Given the description of an element on the screen output the (x, y) to click on. 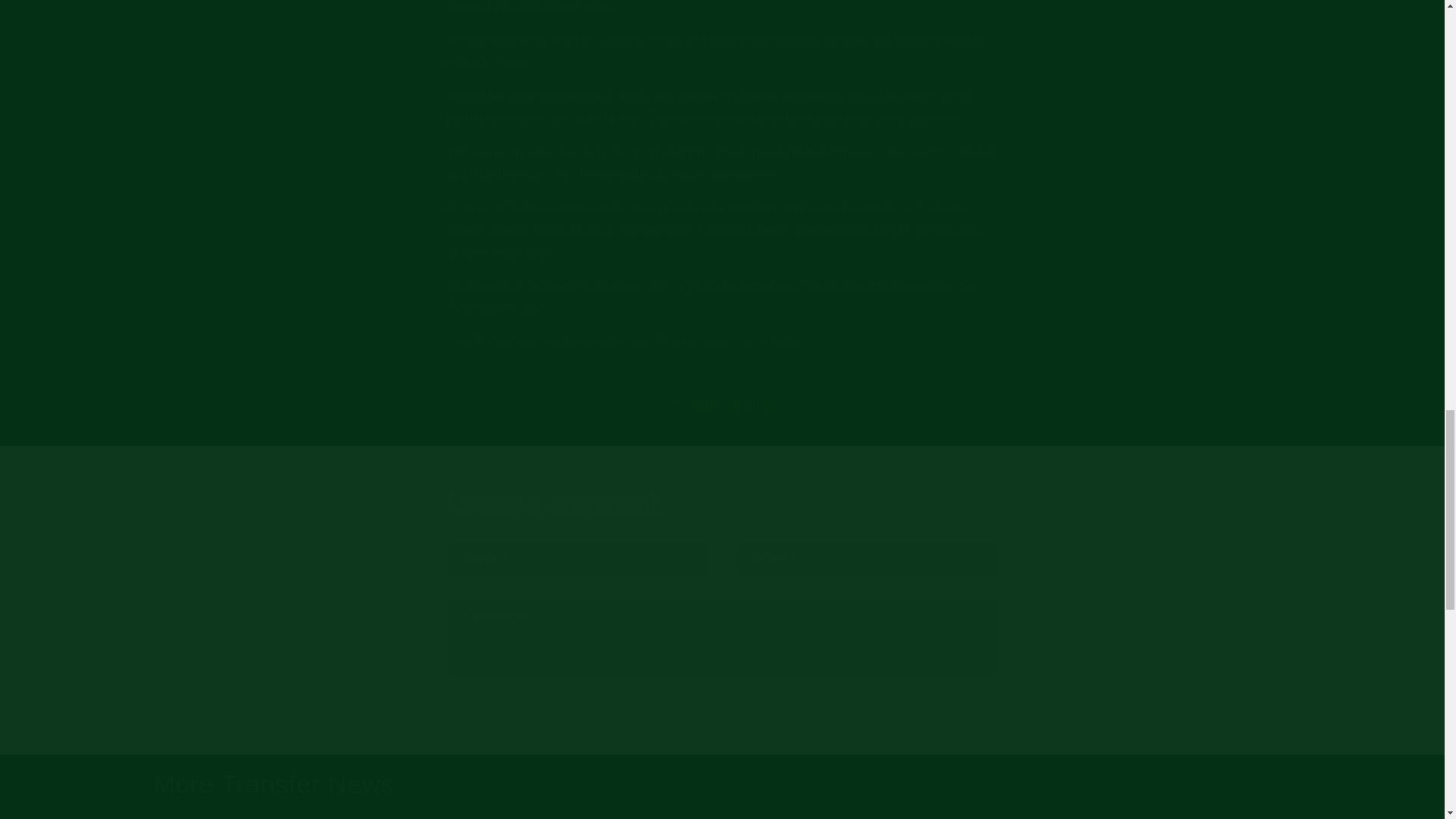
More Transfer News (272, 784)
Post comment (510, 724)
